Given the description of an element on the screen output the (x, y) to click on. 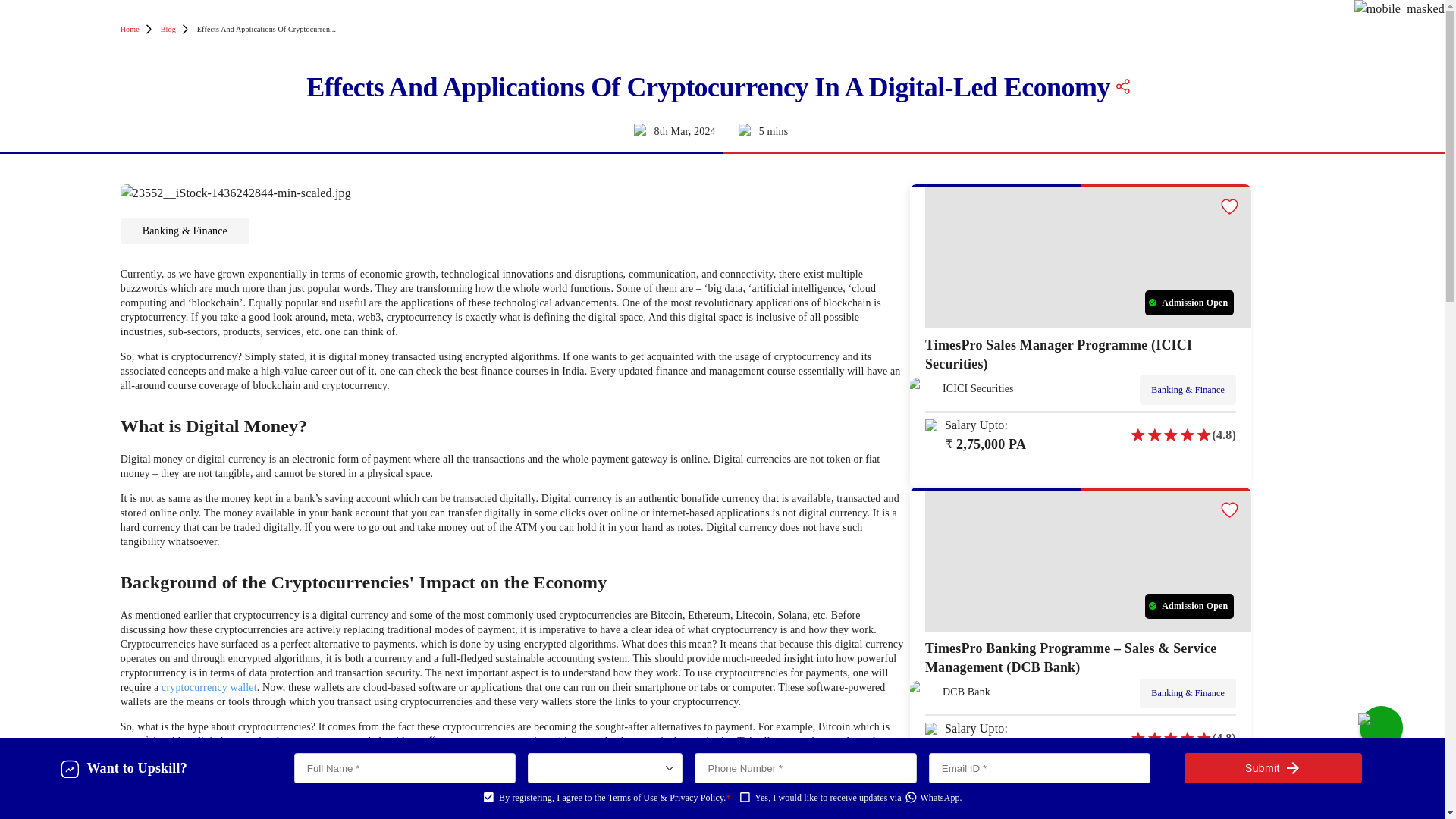
Submit (1273, 767)
Blog (168, 29)
Terms of Use (633, 797)
Privacy Policy (696, 797)
cryptocurrency wallet (209, 686)
Home (129, 29)
